Given the description of an element on the screen output the (x, y) to click on. 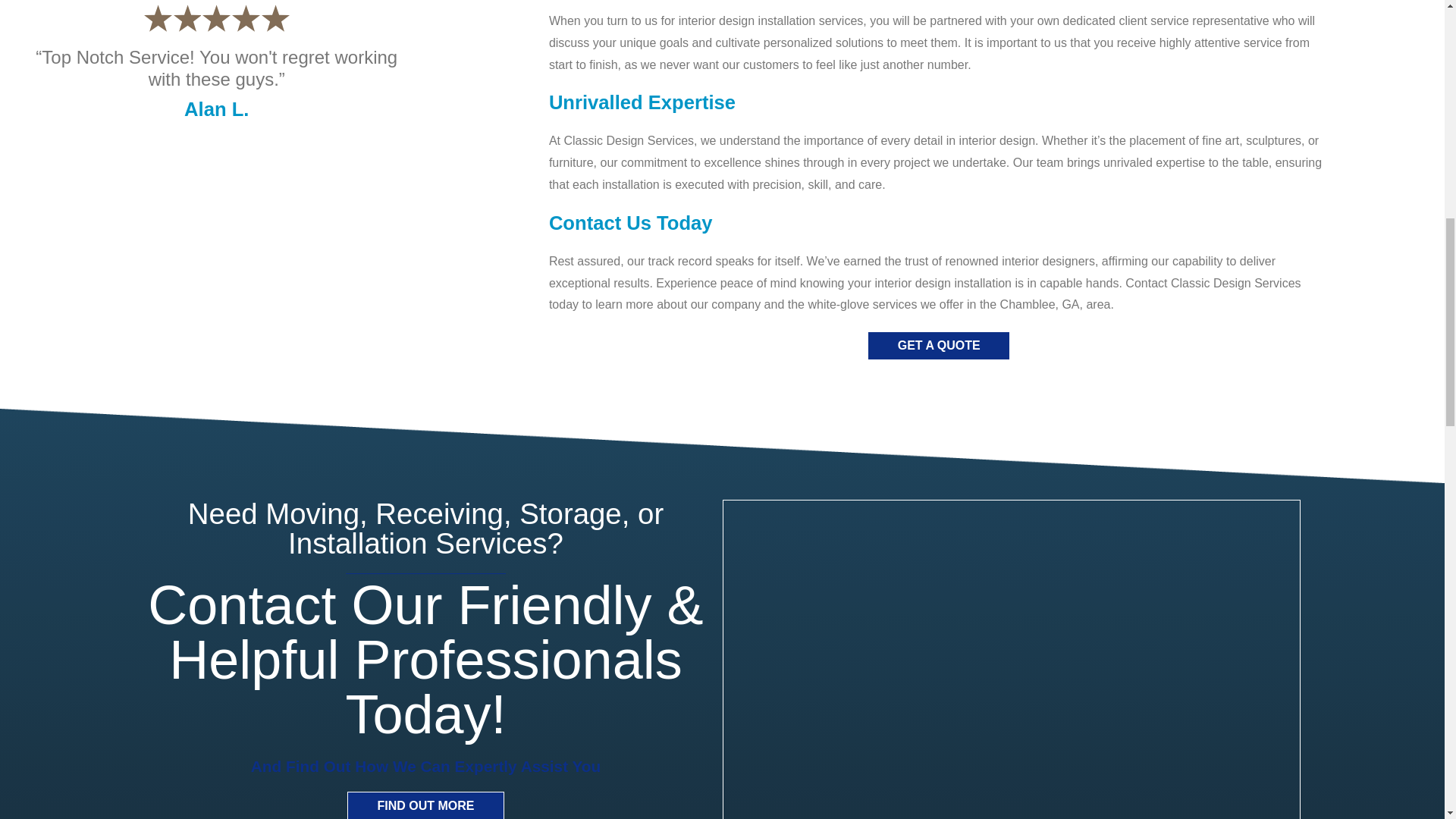
FIND OUT MORE (425, 805)
GET A QUOTE (938, 345)
